Given the description of an element on the screen output the (x, y) to click on. 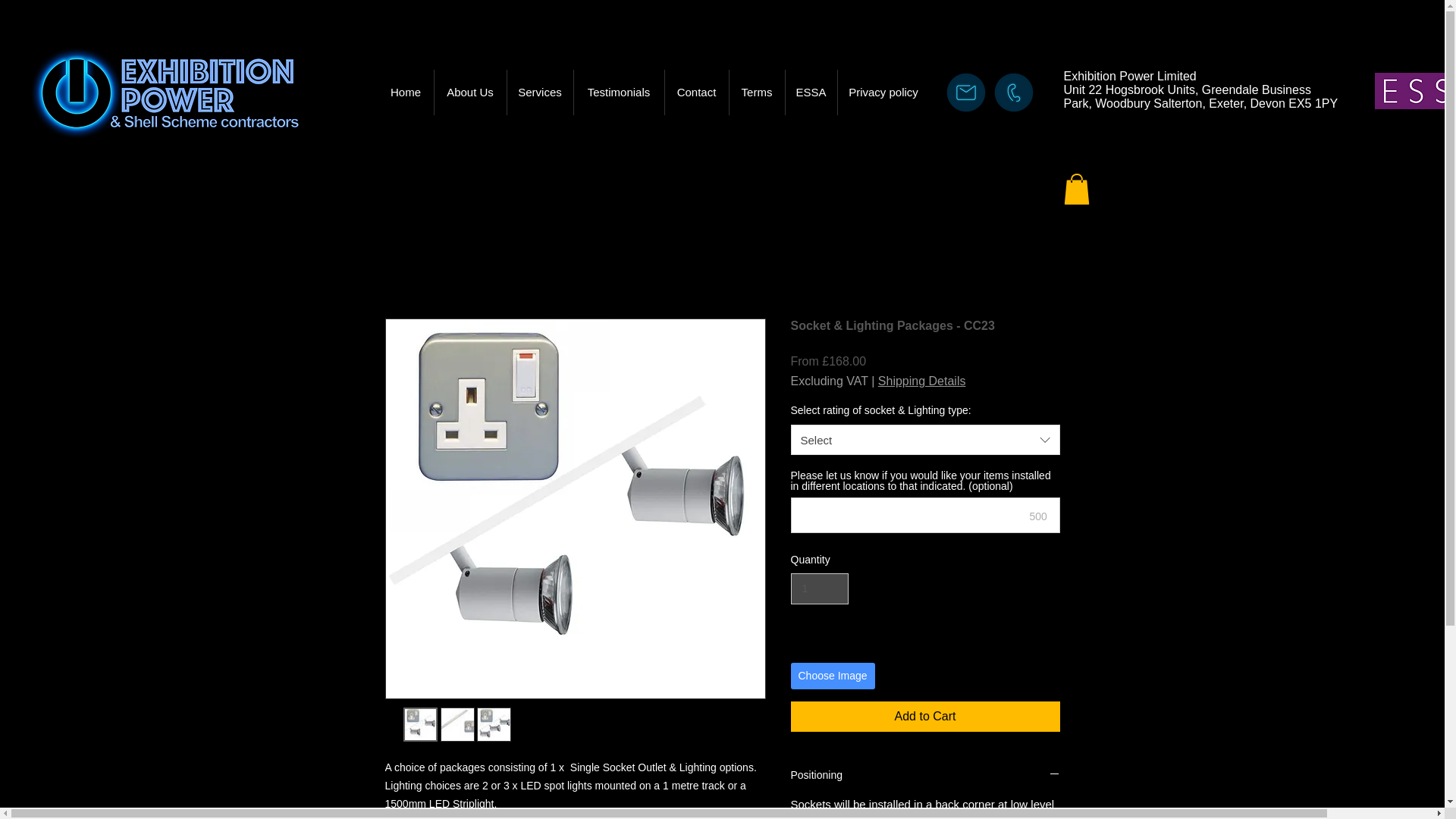
Positioning (924, 775)
Services (539, 92)
Shipping Details (921, 381)
Privacy policy (882, 92)
Terms (756, 92)
Select (924, 440)
Choose Image (832, 675)
ESSA (811, 92)
About Us (469, 92)
1 (818, 588)
Contact (695, 92)
Home (404, 92)
Testimonials (618, 92)
Add to Cart (924, 716)
